Given the description of an element on the screen output the (x, y) to click on. 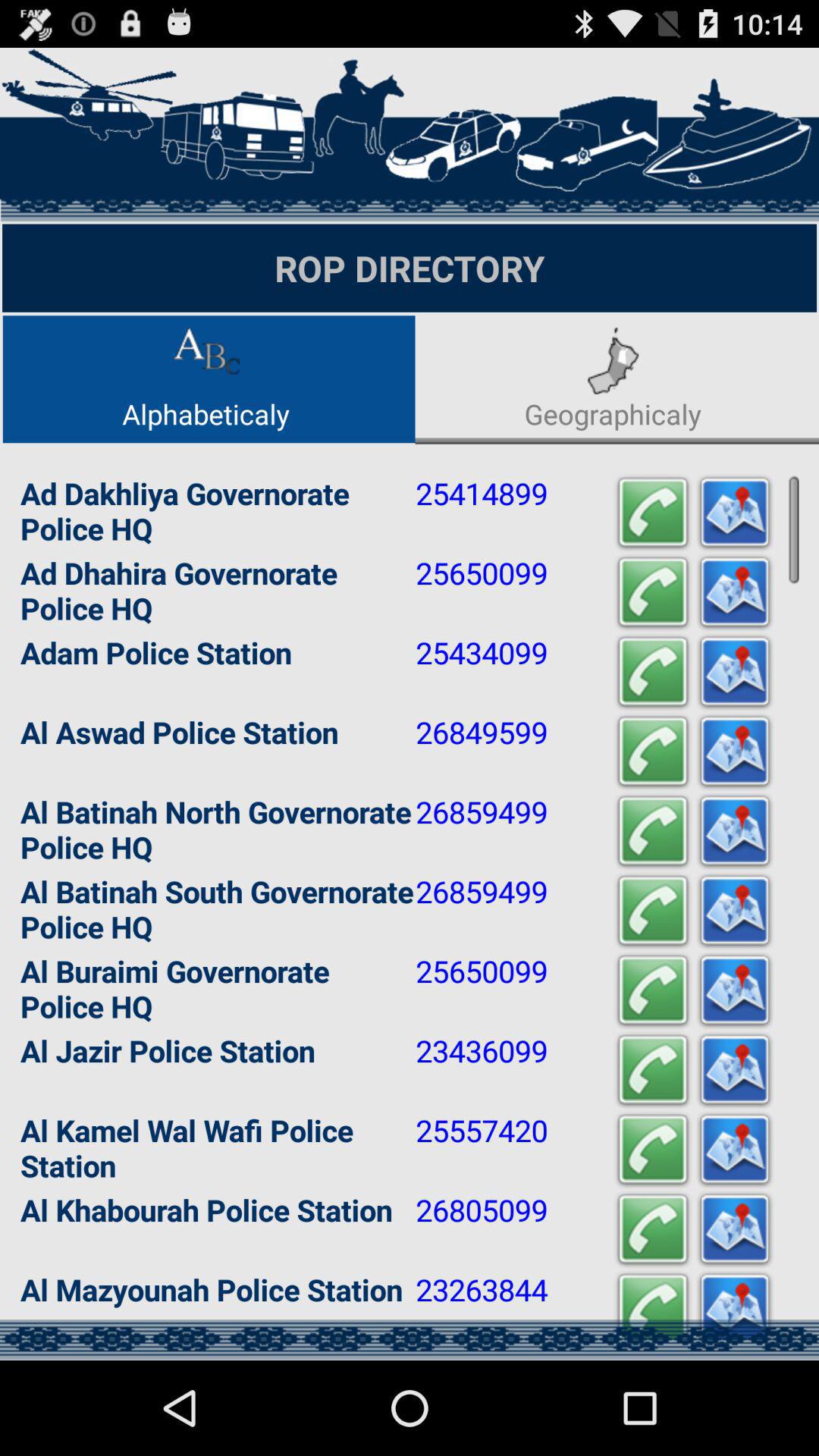
show on map (734, 672)
